Given the description of an element on the screen output the (x, y) to click on. 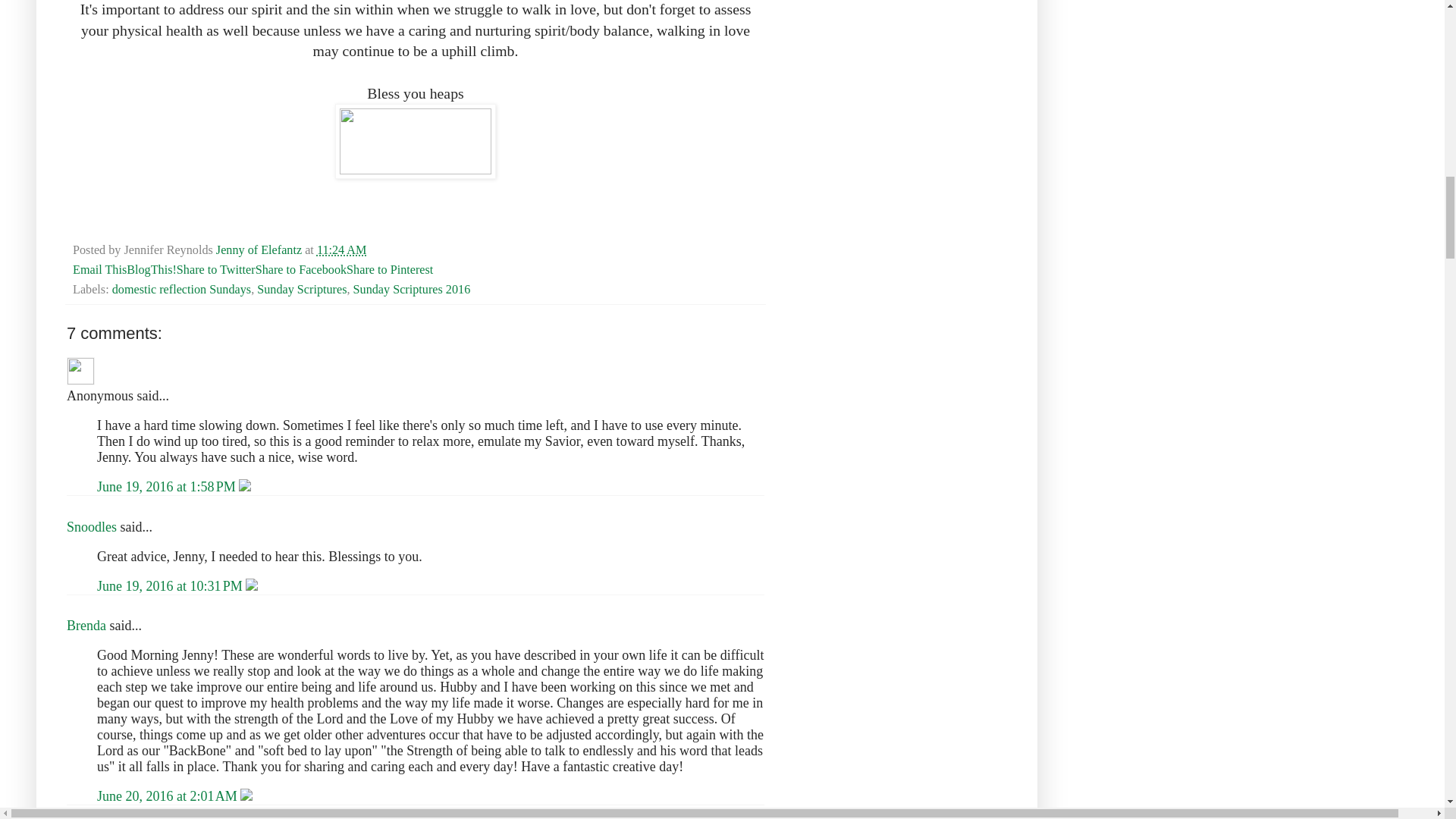
Share to Pinterest (389, 269)
domestic reflection Sundays (181, 289)
11:24 AM (341, 250)
Jenny of Elefantz (259, 250)
comment permalink (168, 795)
Share to Facebook (301, 269)
Share to Twitter (216, 269)
Sunday Scriptures 2016 (411, 289)
BlogThis! (151, 269)
comment permalink (167, 486)
permanent link (341, 250)
Share to Pinterest (389, 269)
Share to Facebook (301, 269)
BlogThis! (151, 269)
Email This (99, 269)
